Given the description of an element on the screen output the (x, y) to click on. 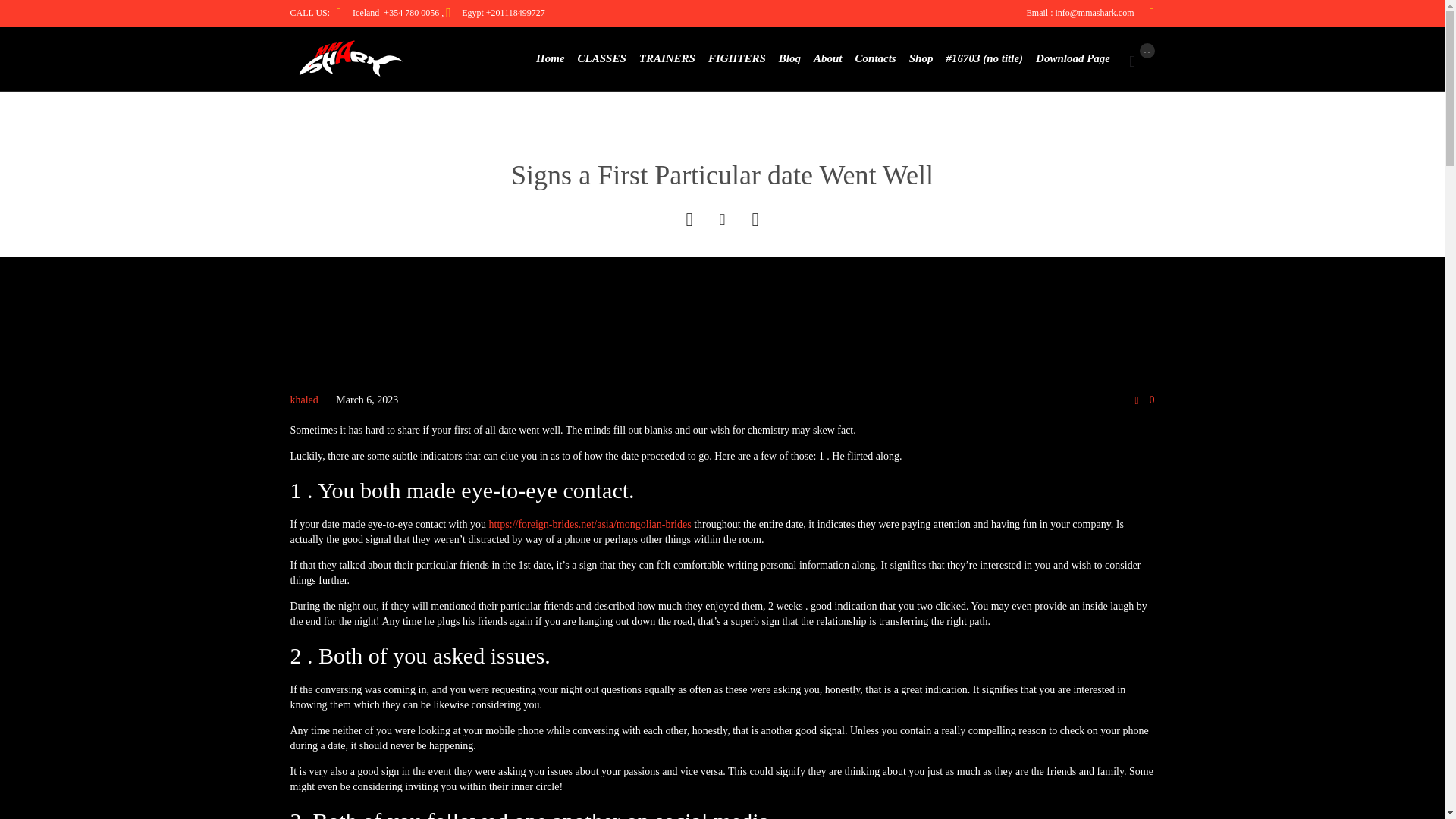
CLASSES (600, 58)
TRAINERS (666, 58)
FIGHTERS (736, 58)
Blog (788, 58)
Home (550, 58)
Download Page (1072, 58)
Contacts (875, 58)
Shop (920, 58)
About (827, 58)
